Given the description of an element on the screen output the (x, y) to click on. 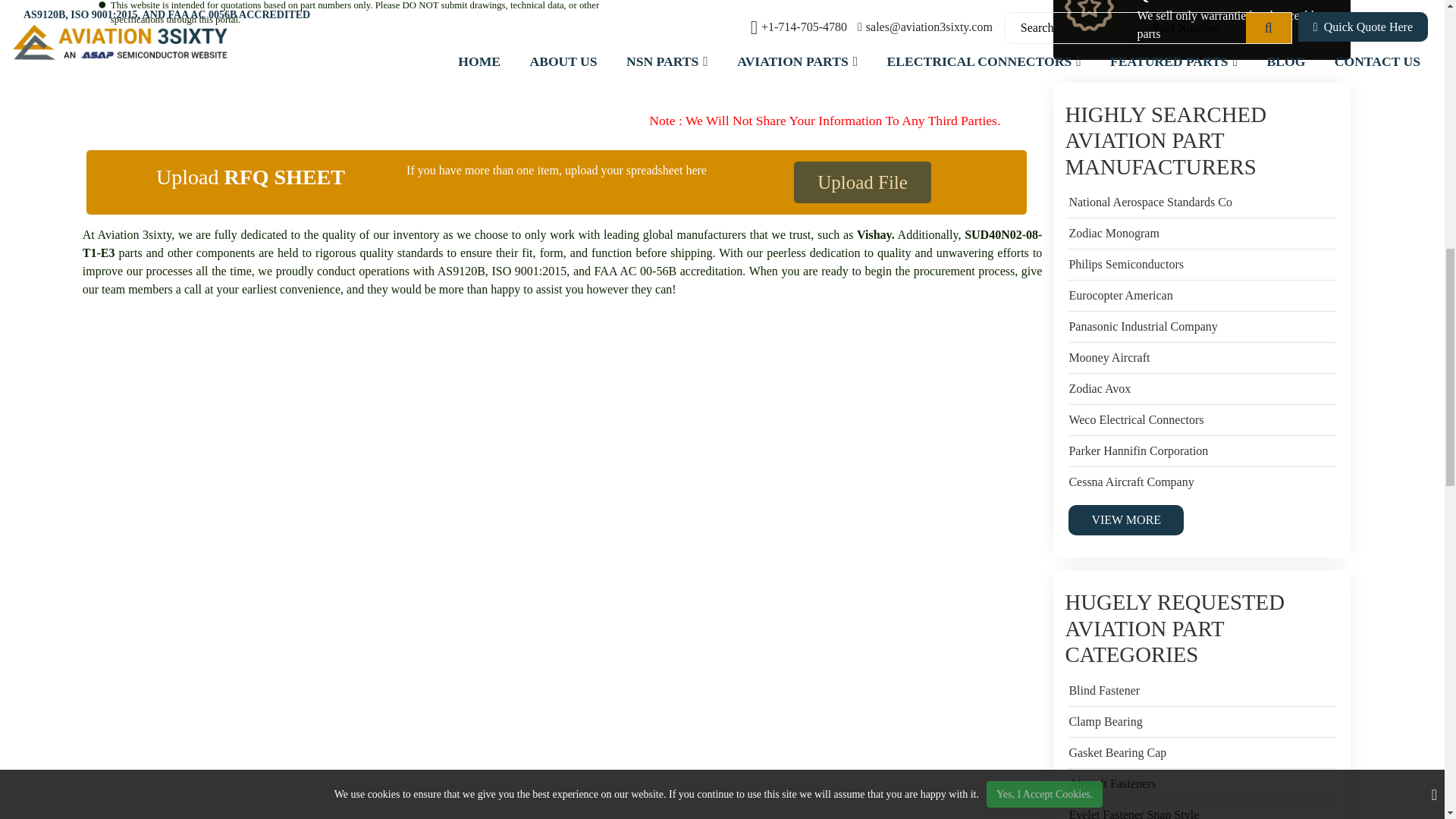
RFQ disclaimer (556, 68)
